Given the description of an element on the screen output the (x, y) to click on. 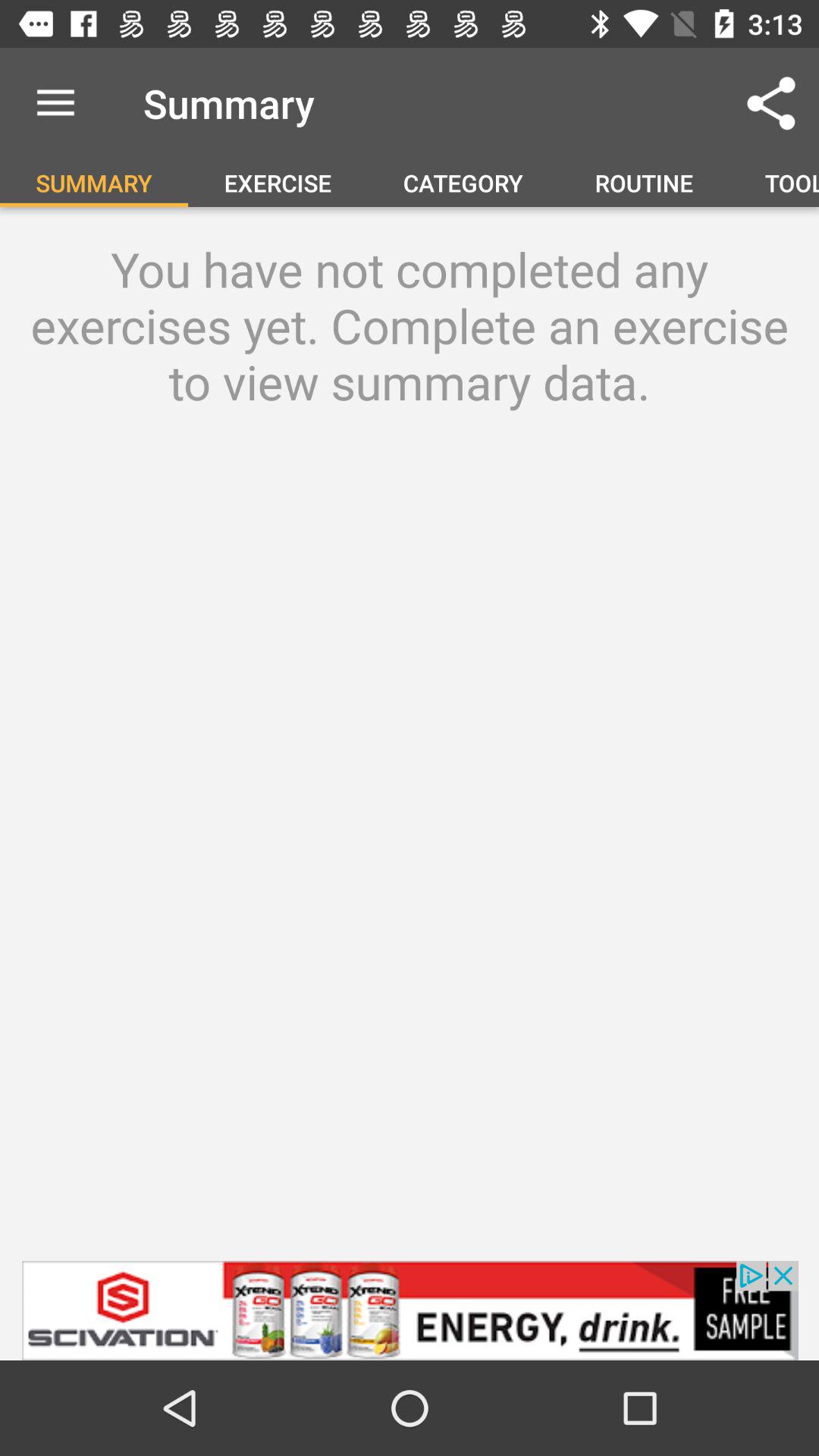
it is notification key (409, 1310)
